Given the description of an element on the screen output the (x, y) to click on. 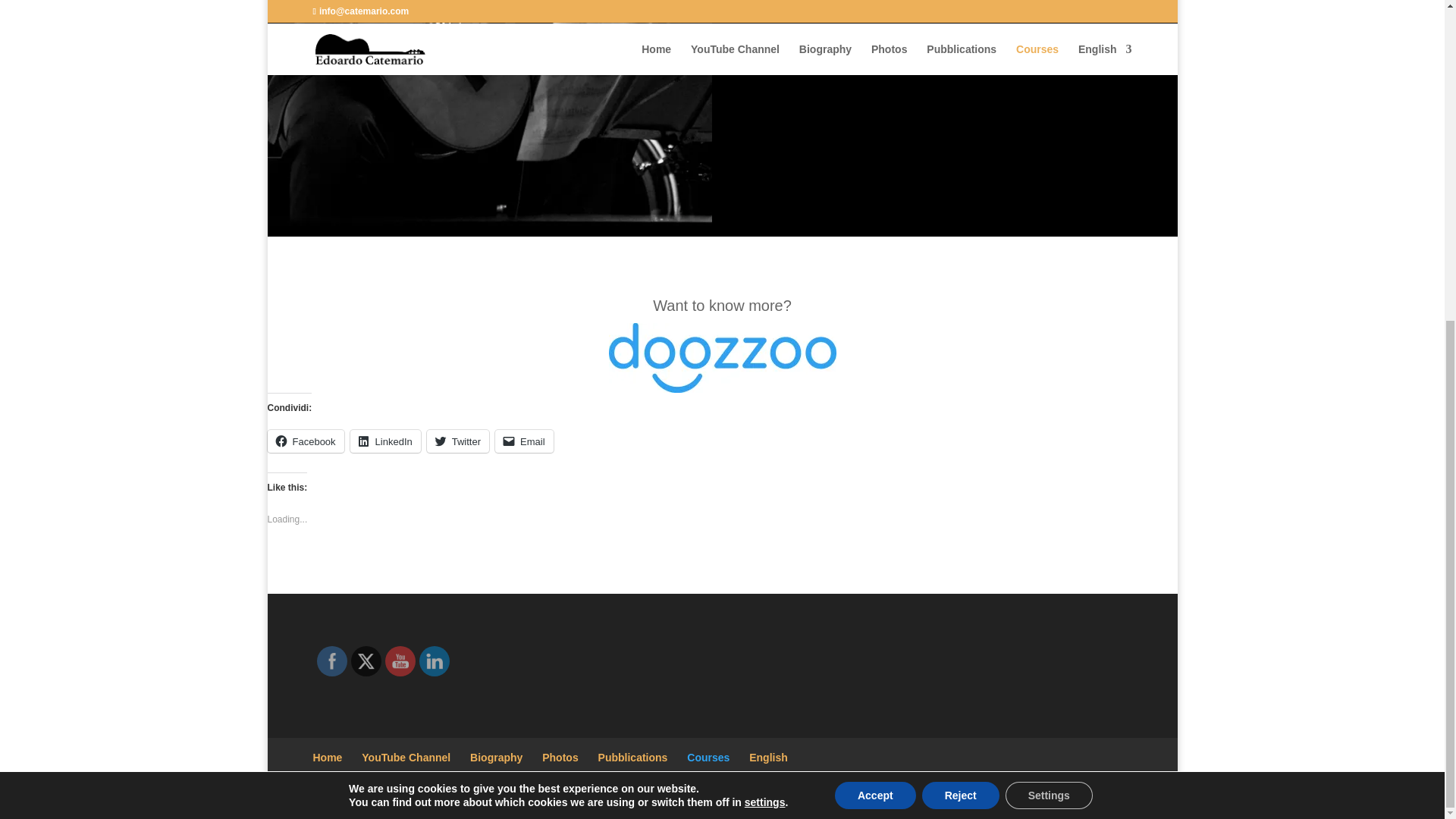
YouTube Channel (405, 757)
Home (327, 757)
Twitter (457, 440)
YouTube (399, 660)
Click to share on Facebook (304, 440)
Click to email a link to a friend (524, 440)
Twitter (366, 661)
Like or Reblog (721, 572)
Biography (496, 757)
Facebook (331, 660)
Facebook (304, 440)
Click to share on Twitter (457, 440)
Click to share on LinkedIn (385, 440)
LinkedIn (385, 440)
Photos (559, 757)
